Given the description of an element on the screen output the (x, y) to click on. 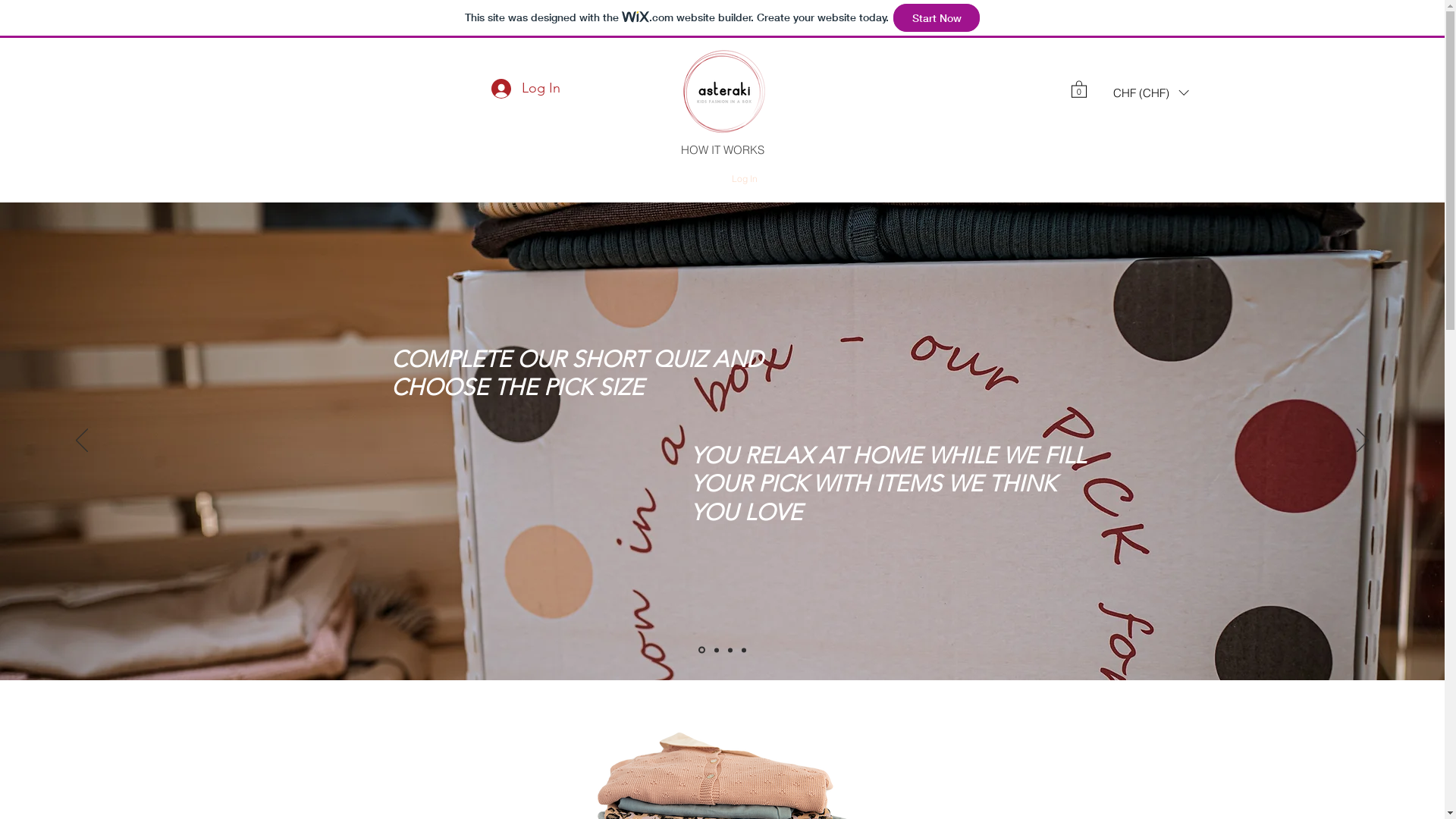
CHF (CHF) Element type: text (1150, 92)
Log In Element type: text (525, 88)
Log In Element type: text (743, 179)
0 Element type: text (1077, 88)
